Given the description of an element on the screen output the (x, y) to click on. 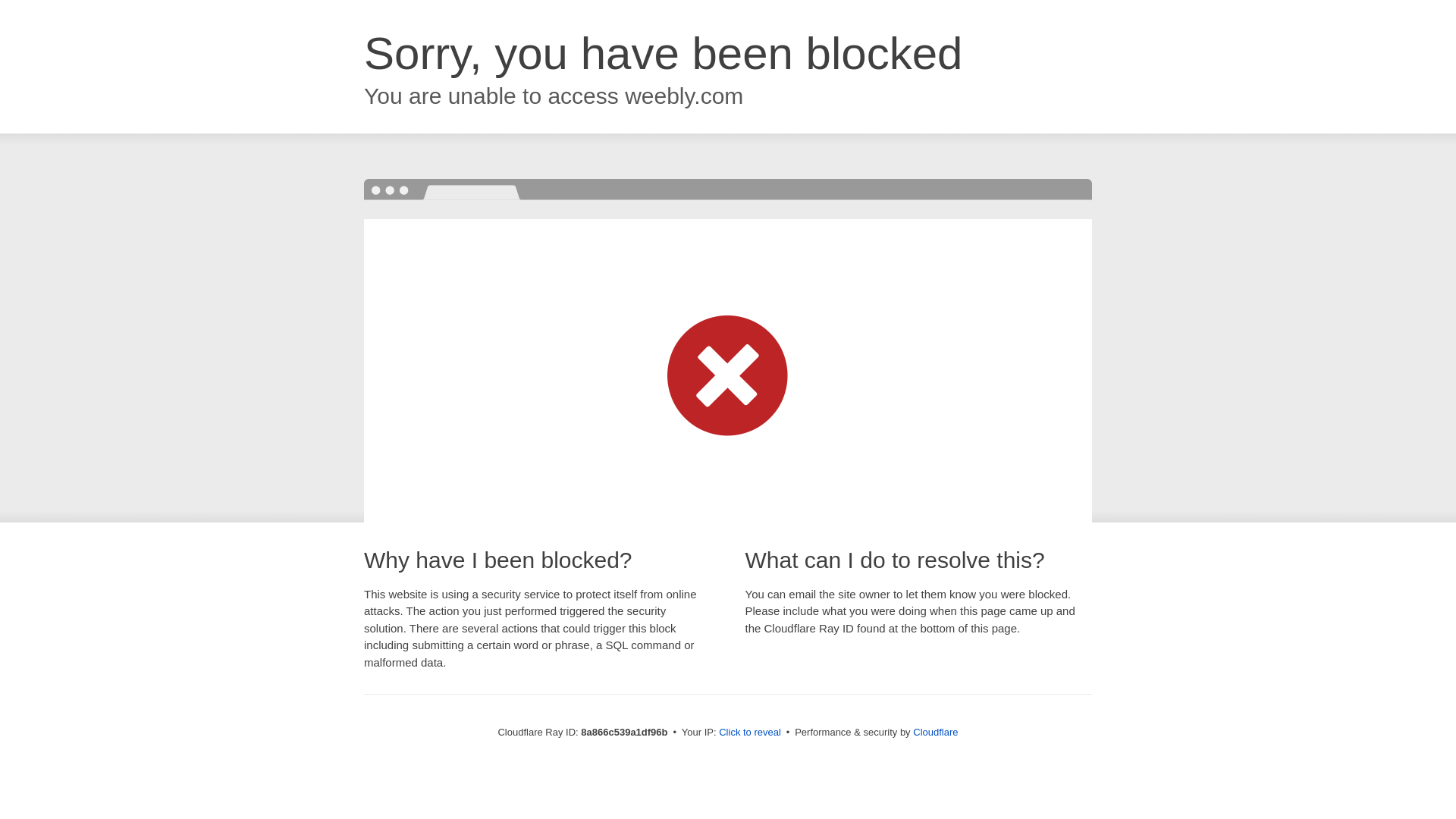
Click to reveal (749, 732)
Cloudflare (935, 731)
